Given the description of an element on the screen output the (x, y) to click on. 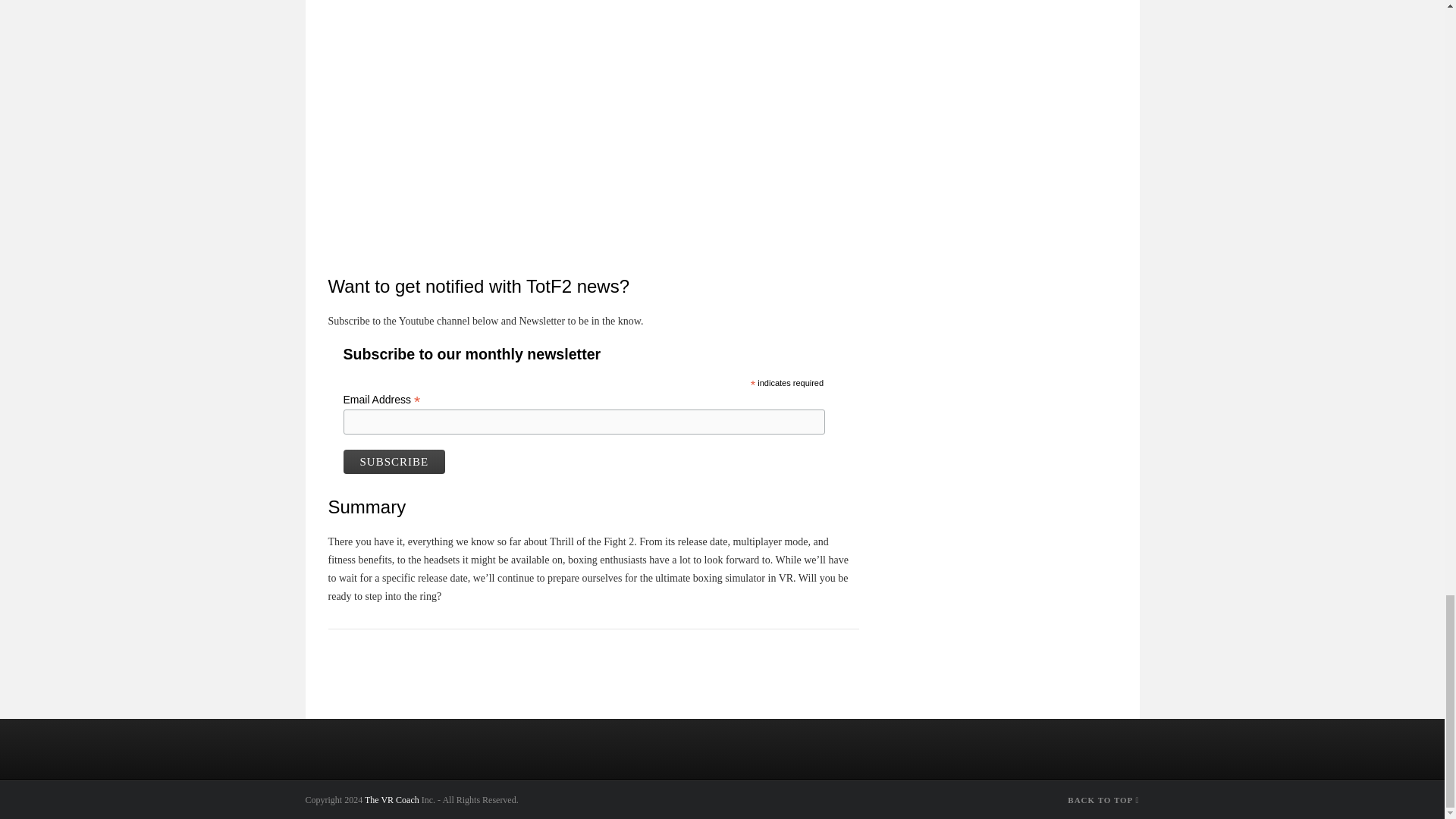
Subscribe (393, 461)
Subscribe (393, 461)
